Given the description of an element on the screen output the (x, y) to click on. 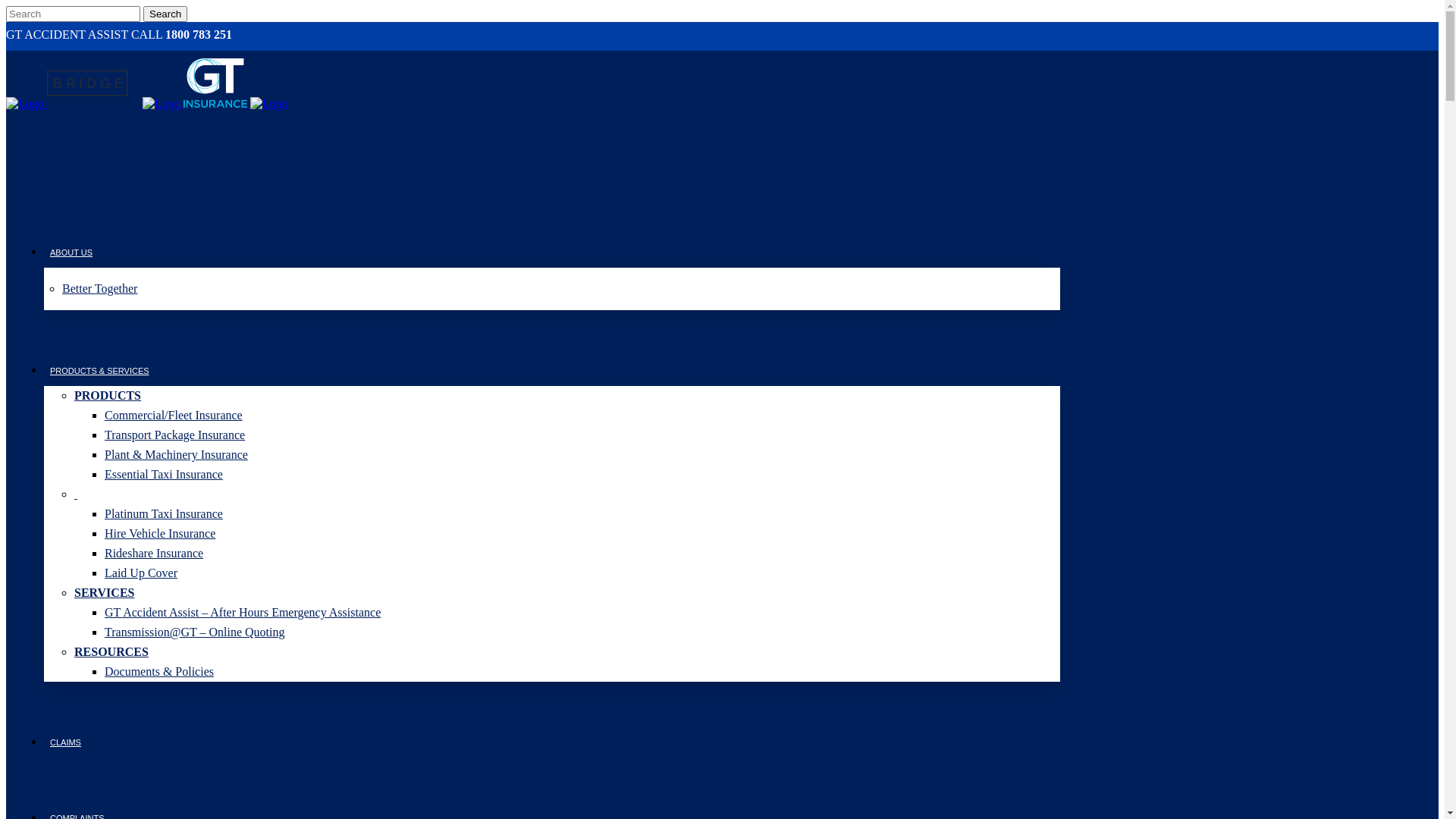
Hire Vehicle Insurance Element type: text (582, 533)
Laid Up Cover Element type: text (582, 573)
1800 783 251 Element type: text (198, 34)
Transport Package Insurance Element type: text (582, 435)
RESOURCES Element type: text (567, 652)
Search Element type: text (165, 13)
Essential Taxi Insurance Element type: text (582, 474)
PRODUCTS Element type: text (567, 395)
CLAIMS Element type: text (65, 741)
SERVICES Element type: text (567, 592)
Rideshare Insurance Element type: text (582, 553)
ABOUT US Element type: text (70, 252)
Better Together Element type: text (561, 288)
Documents & Policies Element type: text (582, 671)
PRODUCTS & SERVICES Element type: text (99, 370)
Plant & Machinery Insurance Element type: text (582, 454)
Commercial/Fleet Insurance Element type: text (582, 415)
  Element type: text (567, 494)
Platinum Taxi Insurance Element type: text (582, 514)
